Given the description of an element on the screen output the (x, y) to click on. 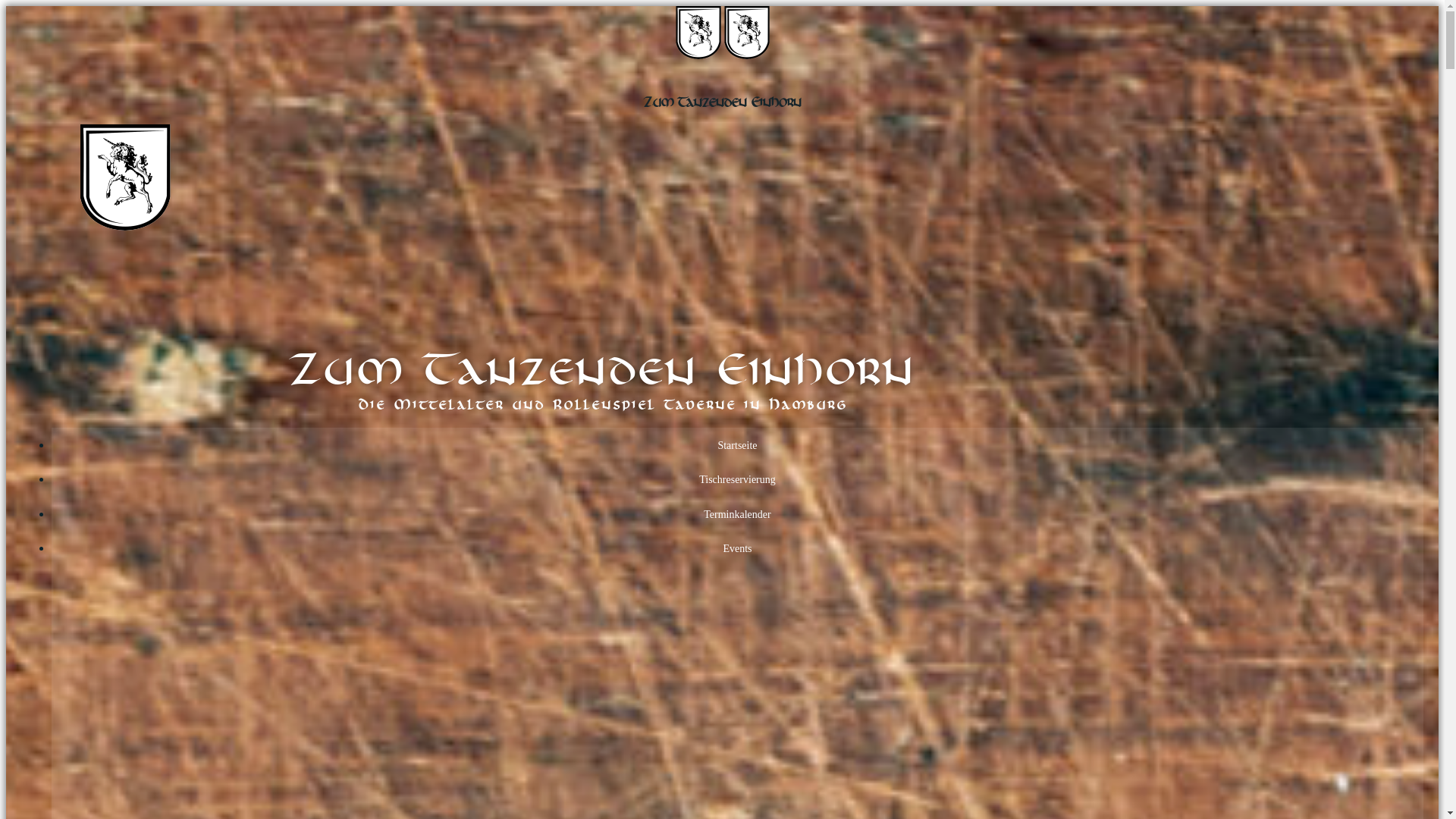
Zum Inhalt springen Element type: text (5, 5)
Startseite Element type: text (736, 445)
Tischreservierung Element type: text (737, 479)
Terminkalender Element type: text (736, 514)
